Given the description of an element on the screen output the (x, y) to click on. 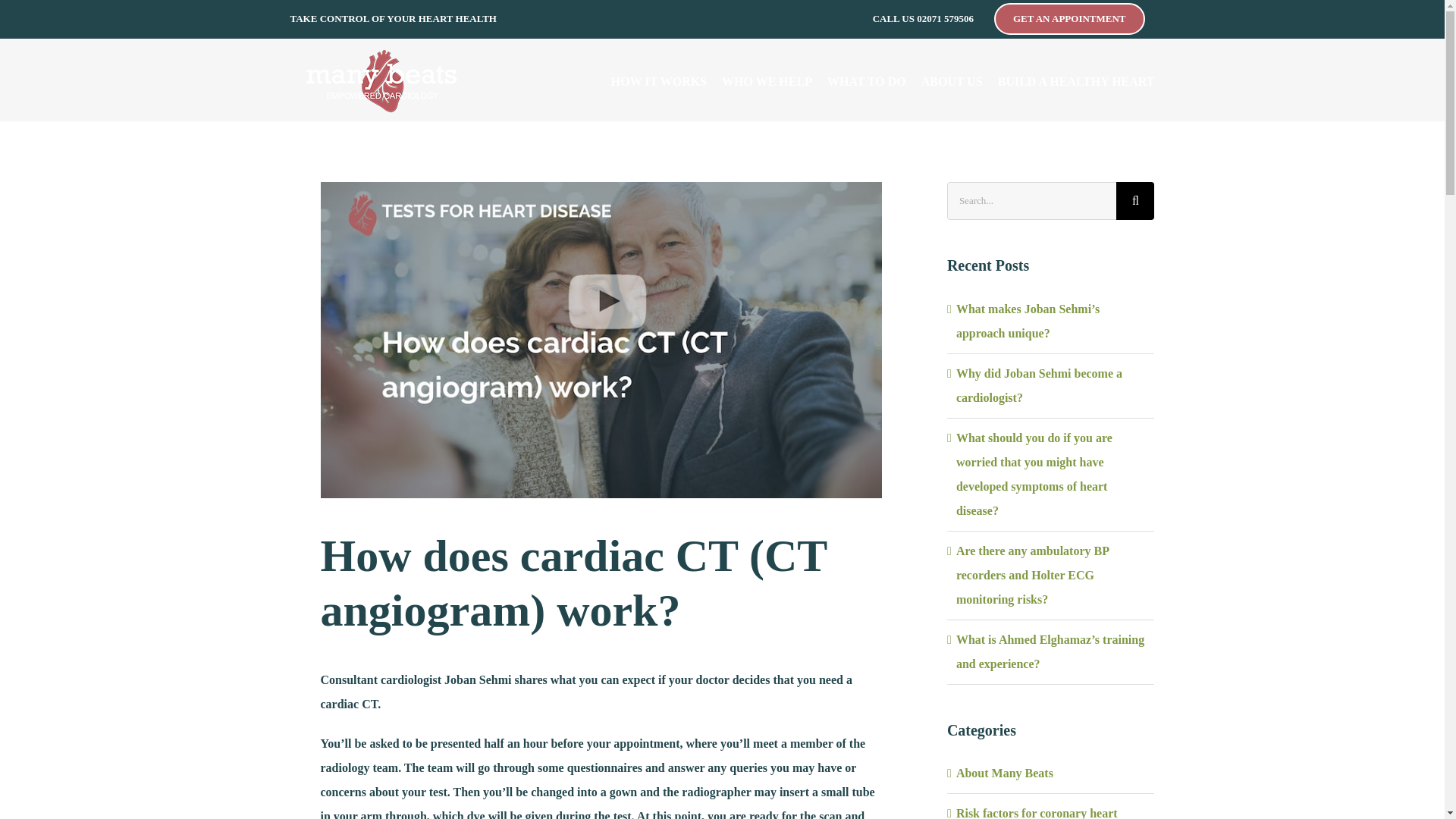
HOW IT WORKS (658, 81)
CALL US 02071 579506 (923, 18)
GET AN APPOINTMENT (1069, 18)
WHAT TO DO (866, 81)
BUILD A HEALTHY HEART (1075, 81)
WHO WE HELP (767, 81)
